Given the description of an element on the screen output the (x, y) to click on. 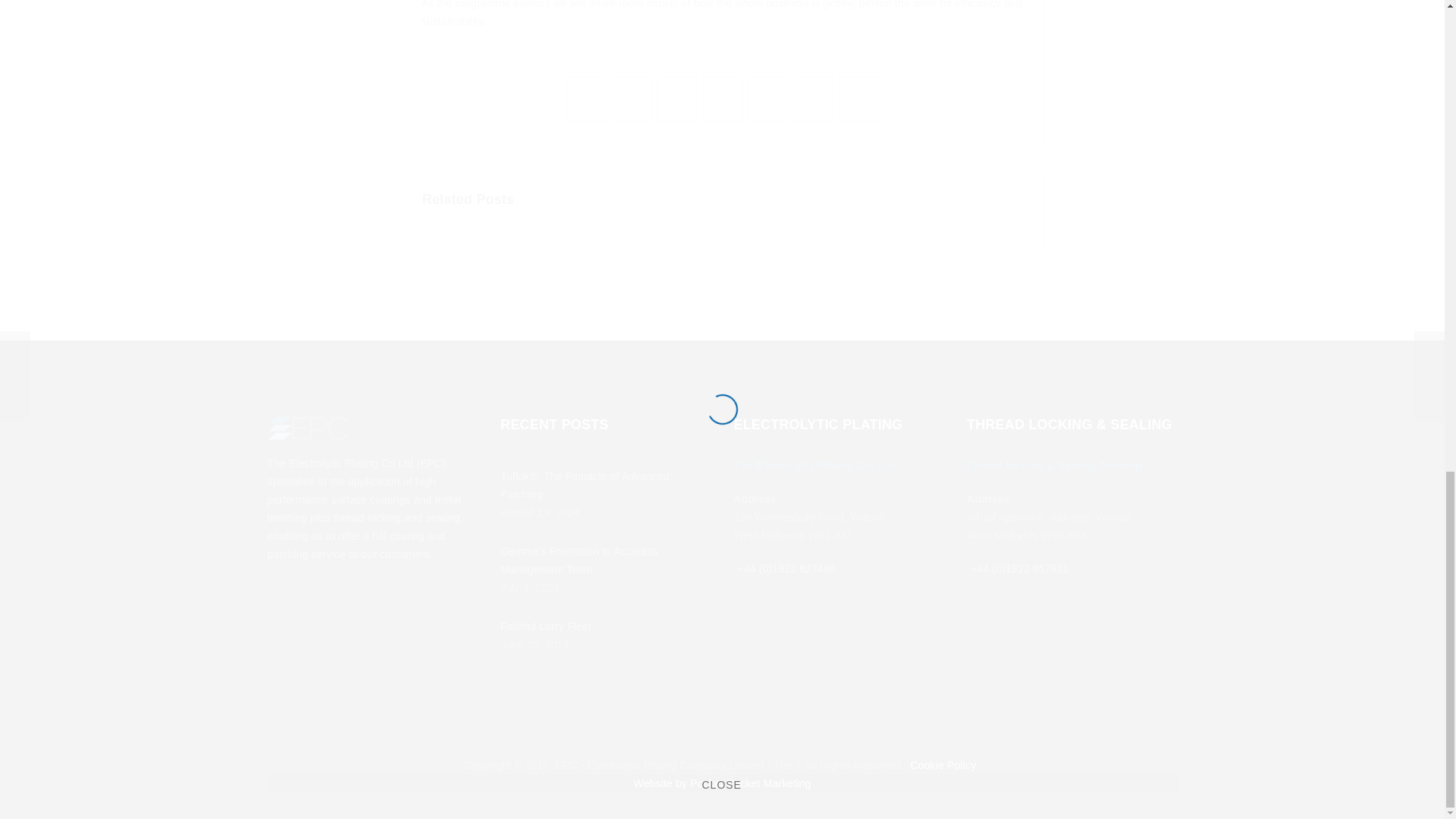
Share via Email (858, 95)
Share on Vk (722, 95)
Share on Pinterest (768, 95)
Just another WordPress site (306, 427)
Share on Reddit (813, 95)
Share on Facebook (586, 95)
Share on LinkedIn (676, 95)
